Given the description of an element on the screen output the (x, y) to click on. 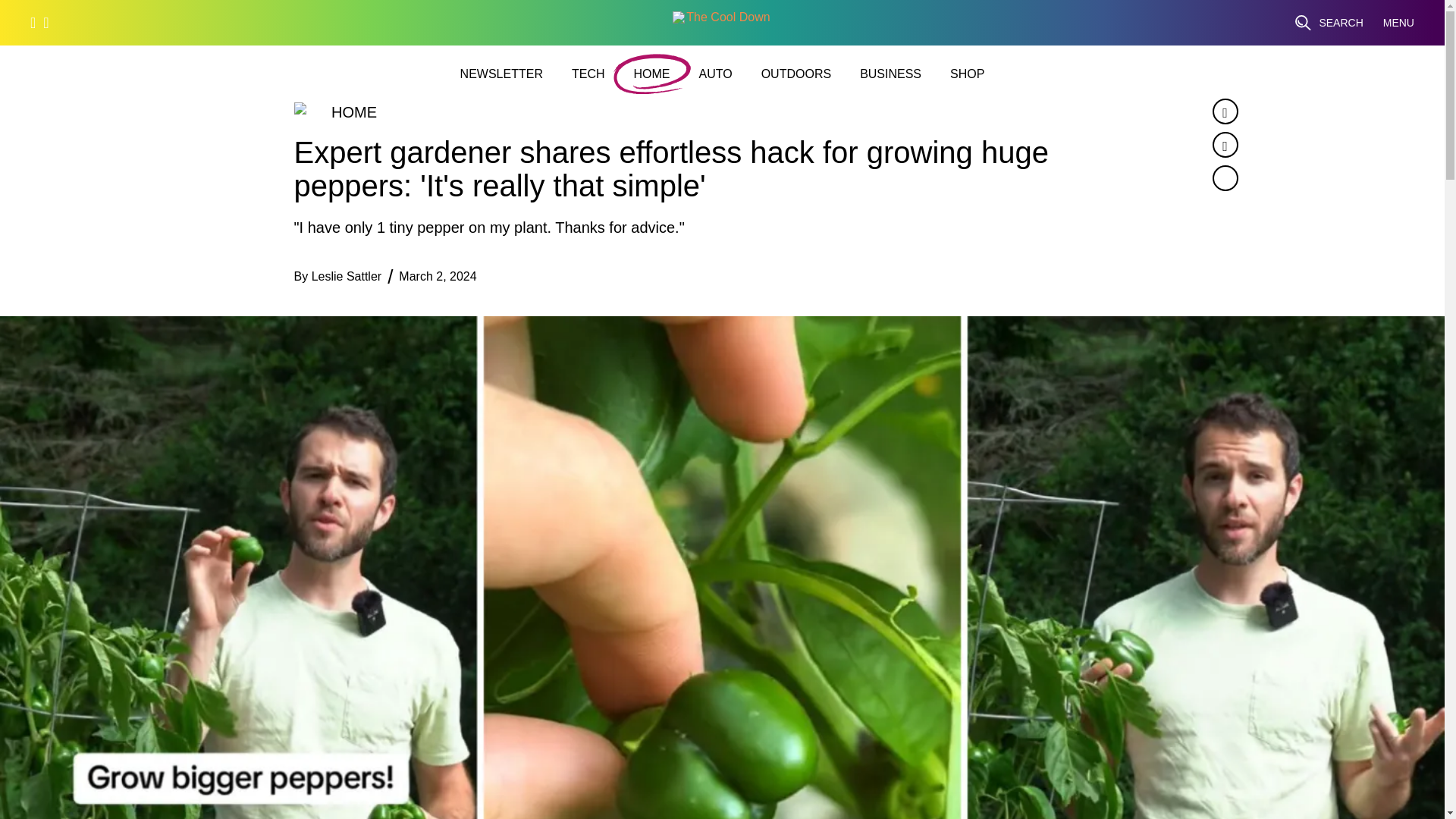
Twitter (1224, 144)
AUTO (715, 73)
Facebook (1224, 111)
SHOP (967, 73)
NEWSLETTER (501, 73)
MENU (1398, 22)
OUTDOORS (796, 73)
SEARCH (1328, 22)
TECH (588, 73)
BUSINESS (890, 73)
